Given the description of an element on the screen output the (x, y) to click on. 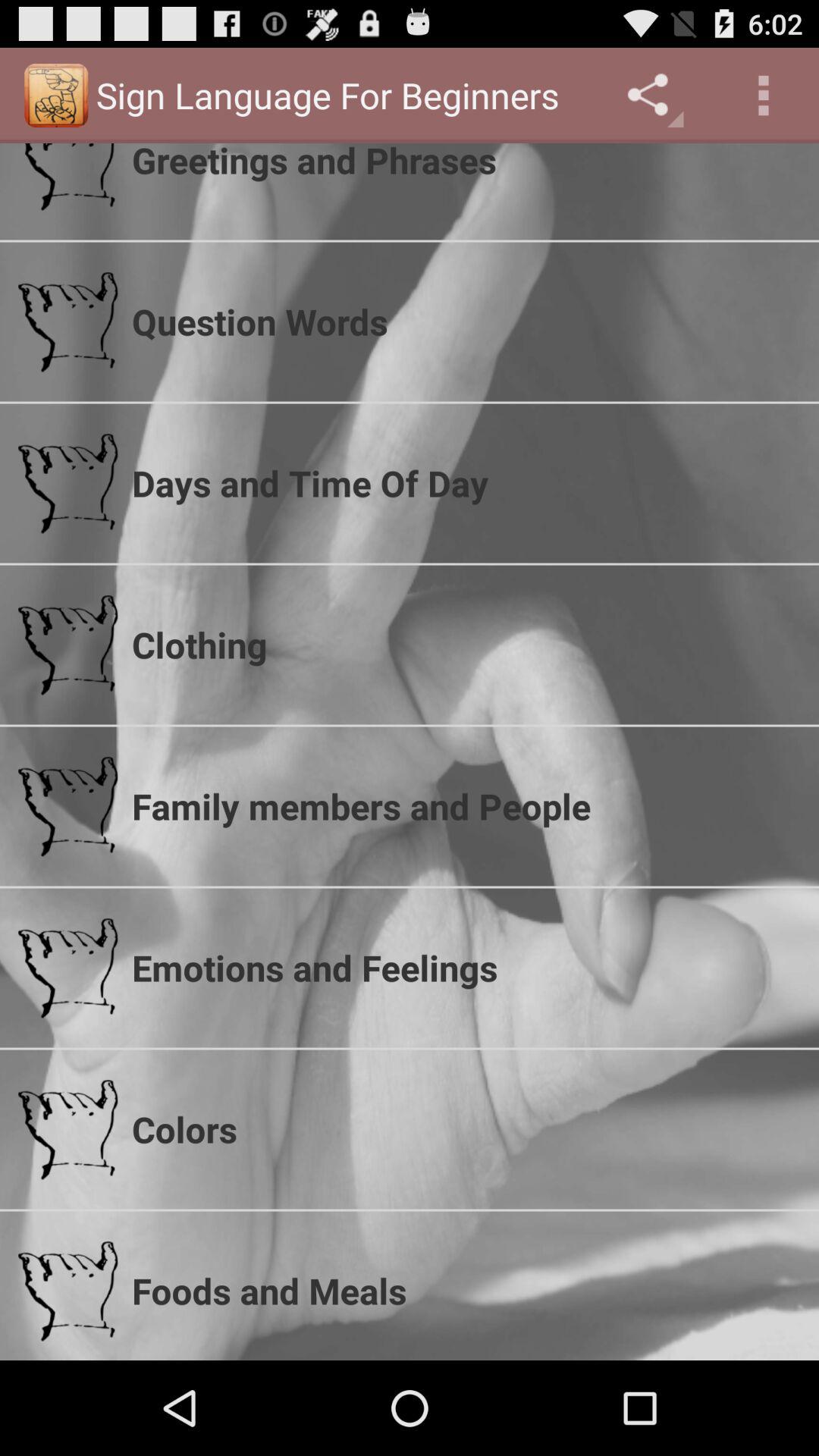
open question words icon (465, 321)
